Given the description of an element on the screen output the (x, y) to click on. 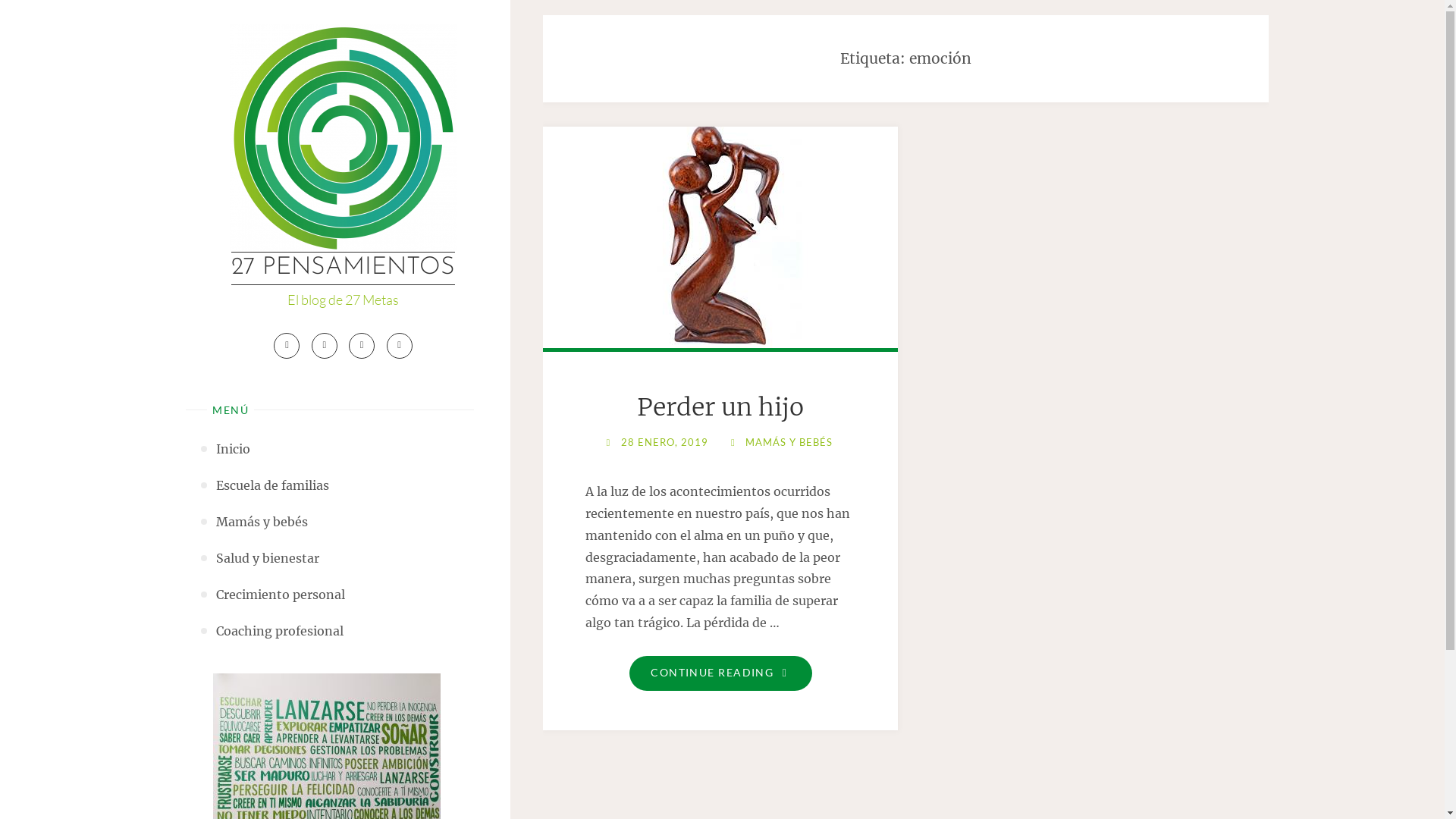
Escuela de familias Element type: text (272, 485)
Coaching profesional Element type: text (279, 630)
Web Element type: hover (399, 345)
Inicio Element type: text (233, 448)
Perder un hijo Element type: text (720, 407)
27 PENSAMIENTOS Element type: text (343, 268)
CONTINUE READING
"PERDER UN HIJO" Element type: text (720, 672)
27 pensamientos Element type: hover (342, 137)
Facebook Element type: hover (286, 345)
Perder un hijo Element type: hover (720, 234)
Crecimiento personal Element type: text (280, 594)
Fecha Element type: hover (607, 441)
Instagram Element type: hover (324, 345)
Salud y bienestar Element type: text (267, 557)
Linkedin Element type: hover (361, 345)
